Given the description of an element on the screen output the (x, y) to click on. 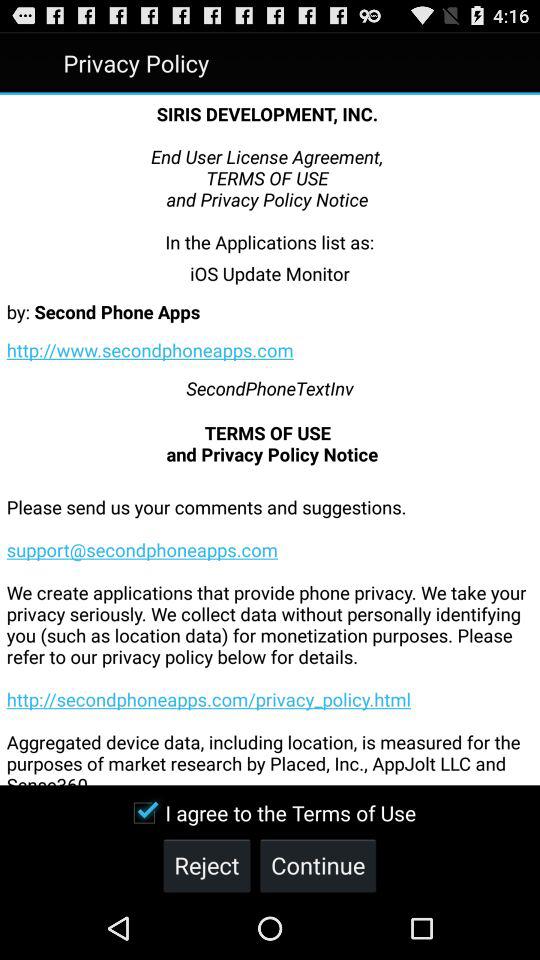
turn off item below i agree to (318, 864)
